Given the description of an element on the screen output the (x, y) to click on. 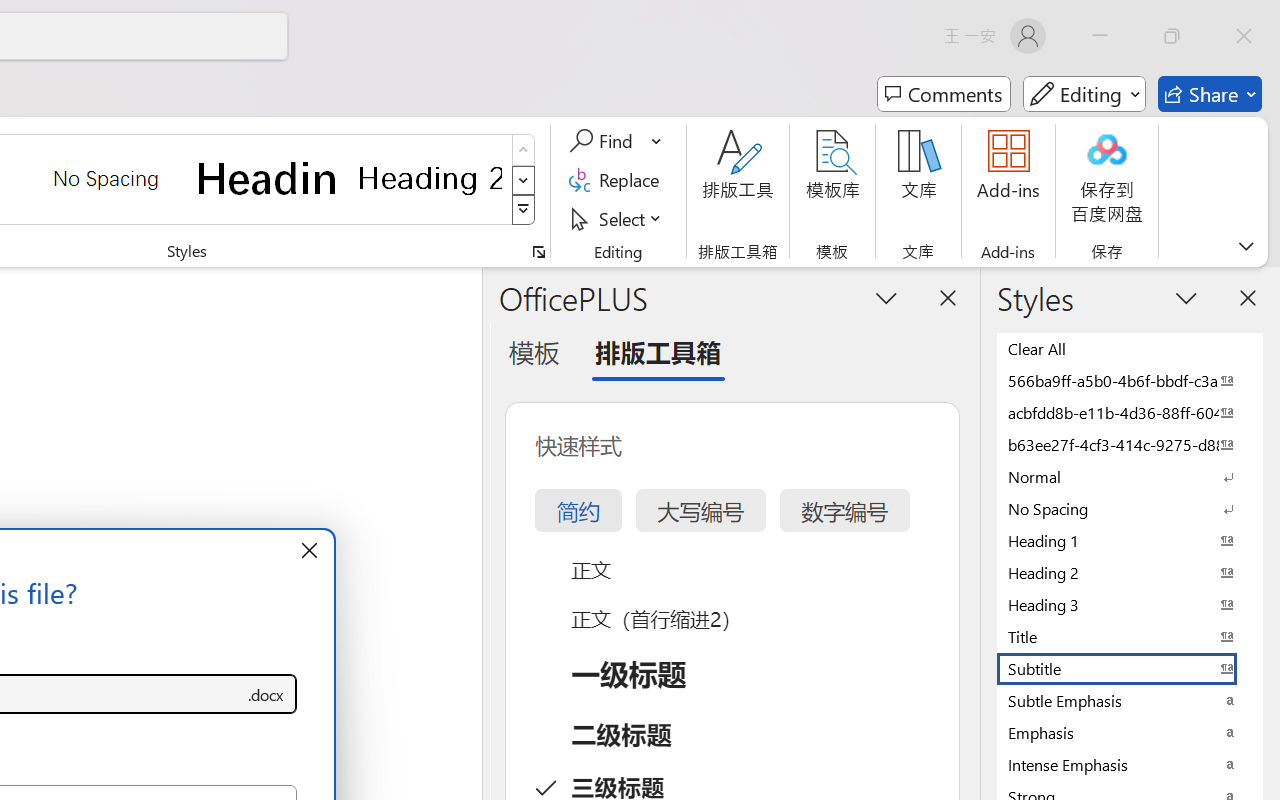
Normal (1130, 476)
Restore Down (1172, 36)
Close (1244, 36)
Subtitle (1130, 668)
Minimize (1099, 36)
Subtle Emphasis (1130, 700)
Class: NetUIImage (523, 210)
Styles (523, 209)
Select (618, 218)
